Given the description of an element on the screen output the (x, y) to click on. 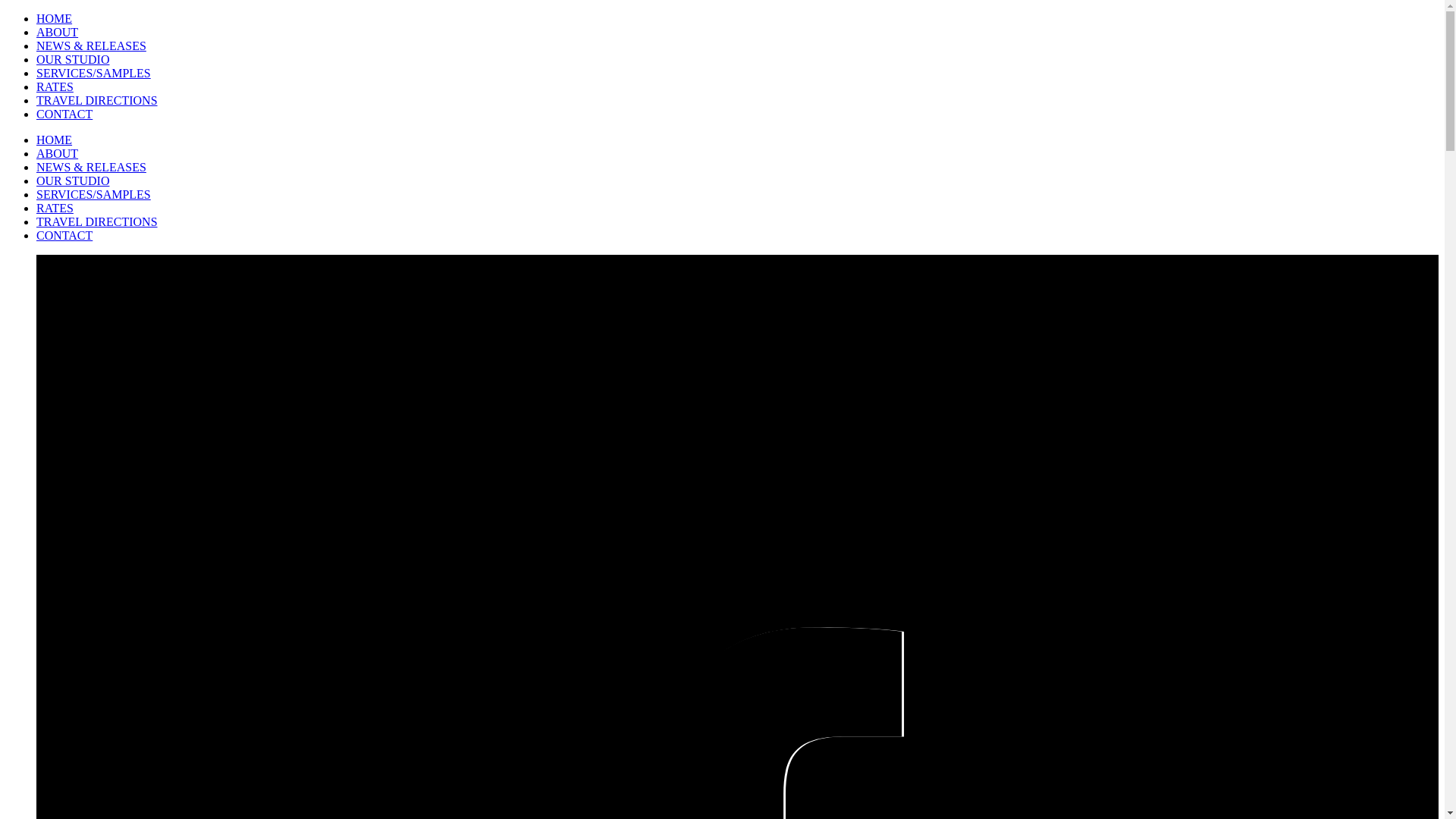
NEWS & RELEASES Element type: text (91, 45)
OUR STUDIO Element type: text (72, 59)
SERVICES/SAMPLES Element type: text (93, 72)
SERVICES/SAMPLES Element type: text (93, 194)
HOME Element type: text (54, 139)
CONTACT Element type: text (64, 235)
HOME Element type: text (54, 18)
OUR STUDIO Element type: text (72, 180)
TRAVEL DIRECTIONS Element type: text (96, 221)
RATES Element type: text (54, 207)
NEWS & RELEASES Element type: text (91, 166)
ABOUT Element type: text (57, 153)
CONTACT Element type: text (64, 113)
TRAVEL DIRECTIONS Element type: text (96, 100)
RATES Element type: text (54, 86)
ABOUT Element type: text (57, 31)
